Given the description of an element on the screen output the (x, y) to click on. 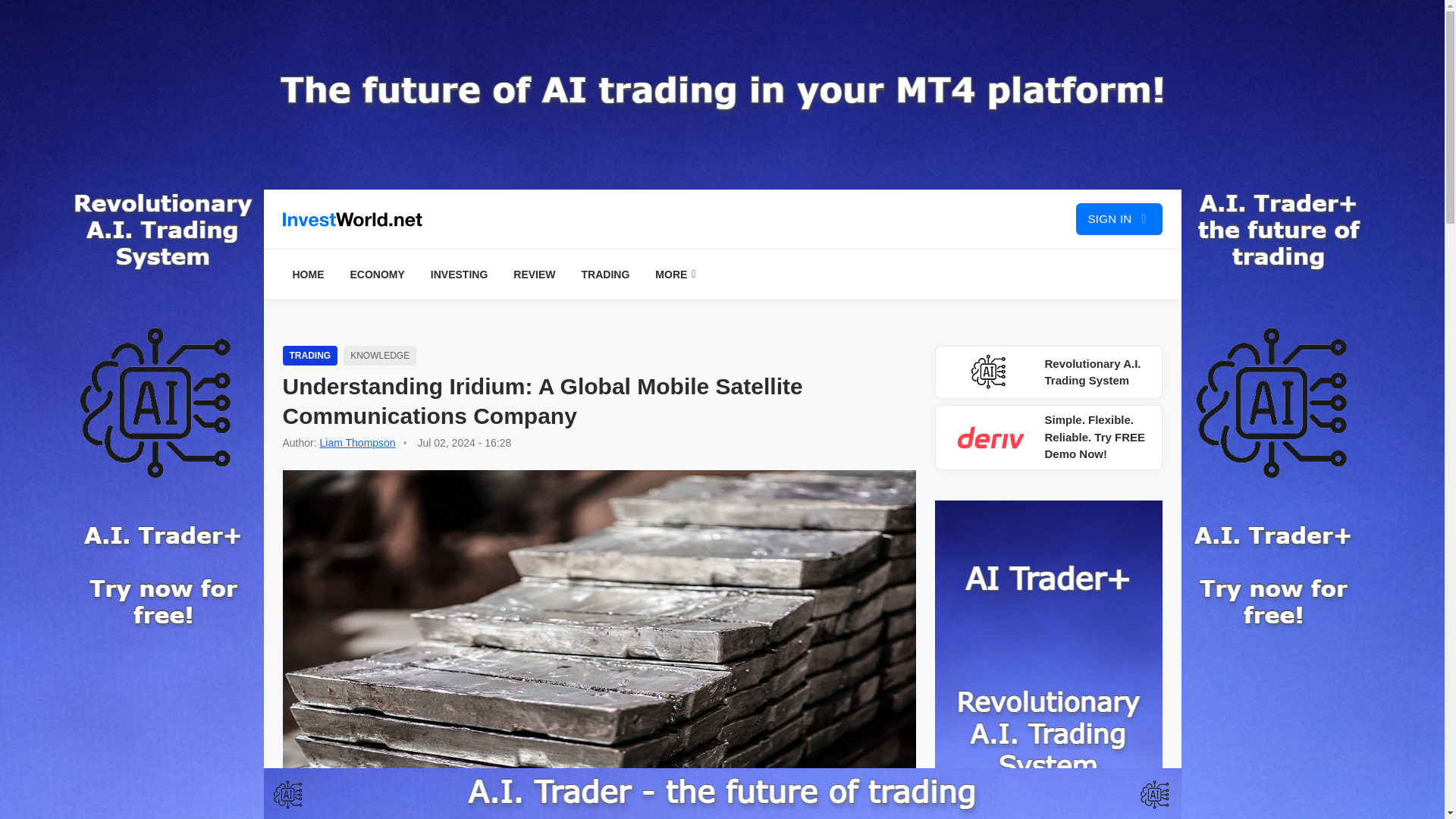
Liam Thompson (358, 442)
REVIEW (533, 274)
SIGN IN (1118, 219)
KNOWLEDGE (379, 355)
TRADING (309, 355)
TRADING (606, 274)
MORE (674, 274)
INVESTING (458, 274)
ECONOMY (376, 274)
HOME (307, 274)
